Given the description of an element on the screen output the (x, y) to click on. 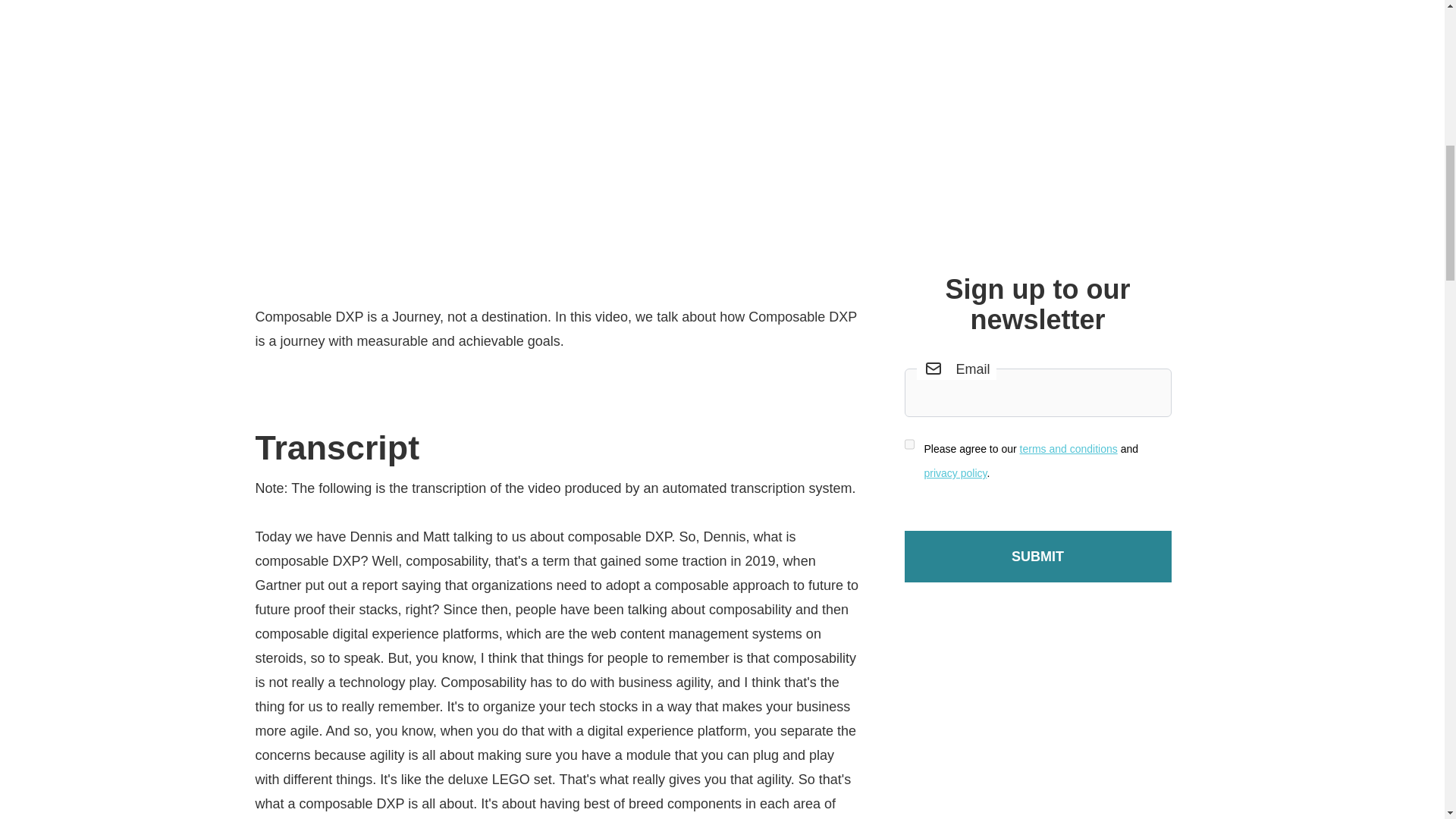
SUBMIT (1037, 556)
privacy policy (955, 472)
terms and conditions (1069, 449)
